Given the description of an element on the screen output the (x, y) to click on. 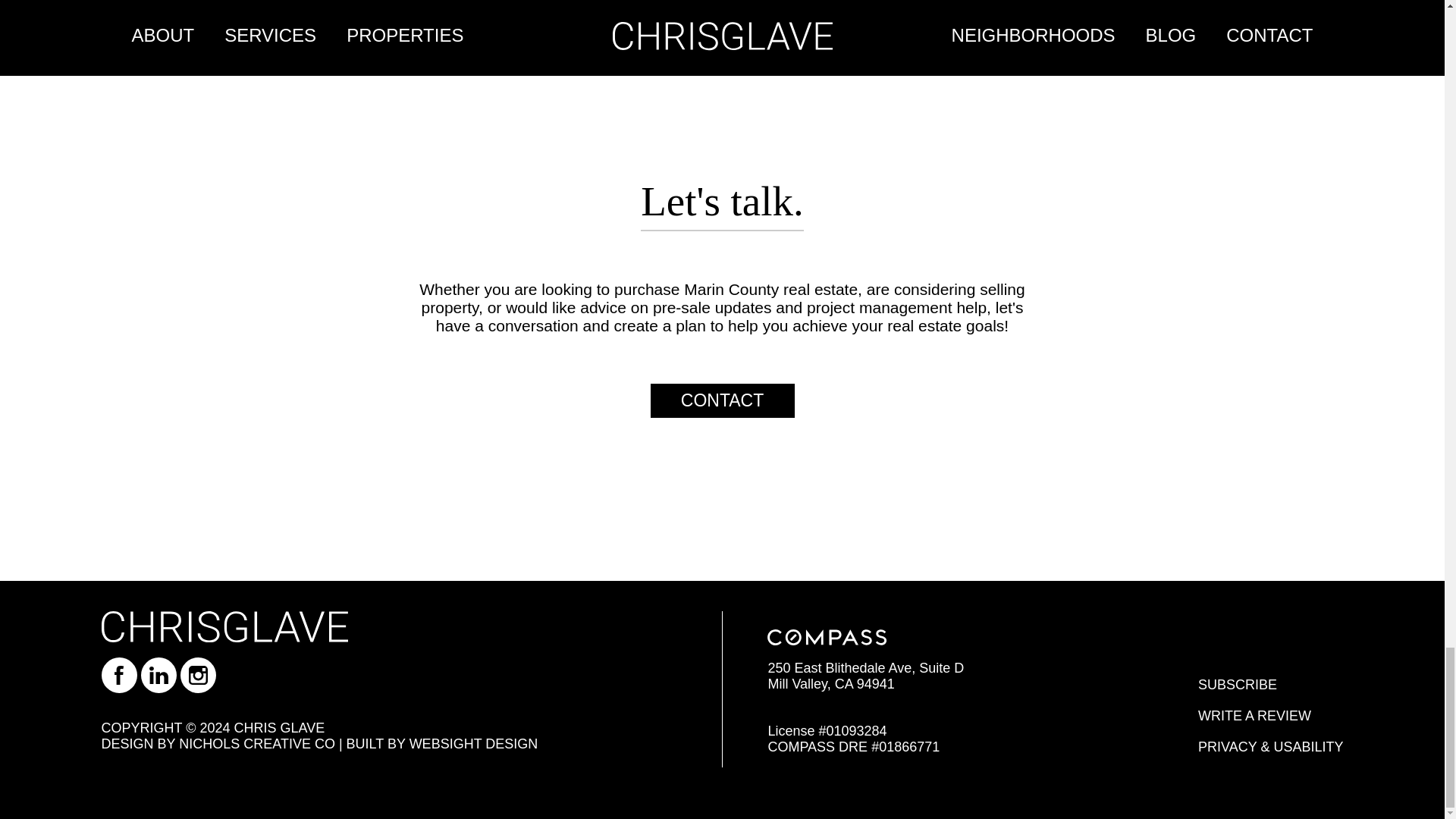
SUBSCRIBE (1237, 684)
Follow Chris on Instagram (197, 674)
Opens in a new window (1254, 715)
Opens in a new window (197, 674)
BUILT BY WEBSIGHT DESIGN (442, 743)
Find Chris Glave on LinkedIn (158, 674)
Opens in a new window (158, 674)
CONTACT (722, 400)
Opens in a new window (217, 743)
Like Chris on Facebook (118, 674)
WRITE A REVIEW (1254, 715)
DESIGN BY NICHOLS CREATIVE CO (217, 743)
Opens in a new window (442, 743)
